Given the description of an element on the screen output the (x, y) to click on. 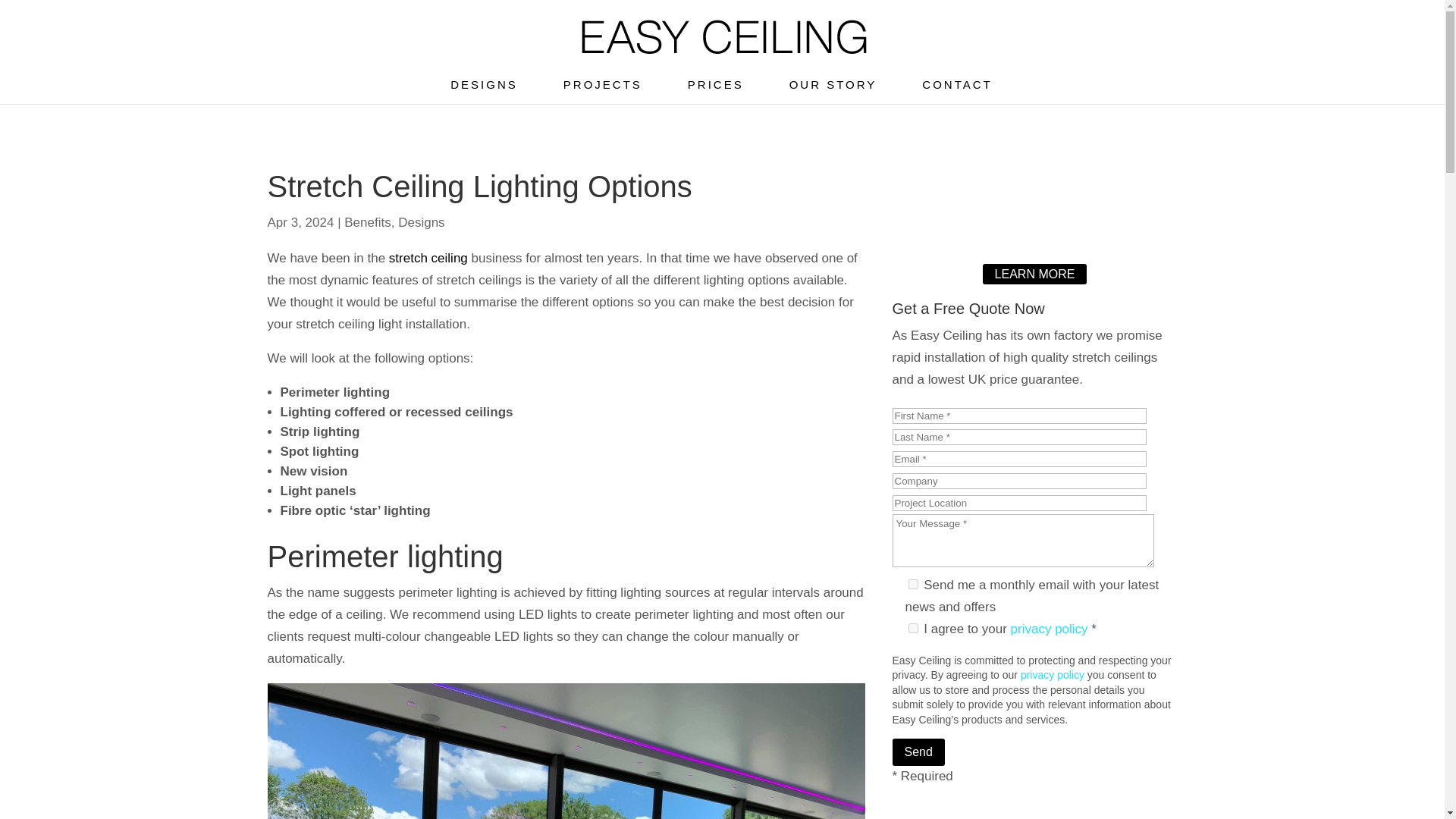
PRICES (715, 91)
Benefits (366, 222)
Designs (420, 222)
privacy policy (1048, 628)
Send (917, 752)
stretch ceiling (427, 257)
CONTACT (956, 91)
1 (913, 628)
privacy policy (1052, 674)
PROJECTS (602, 91)
